Given the description of an element on the screen output the (x, y) to click on. 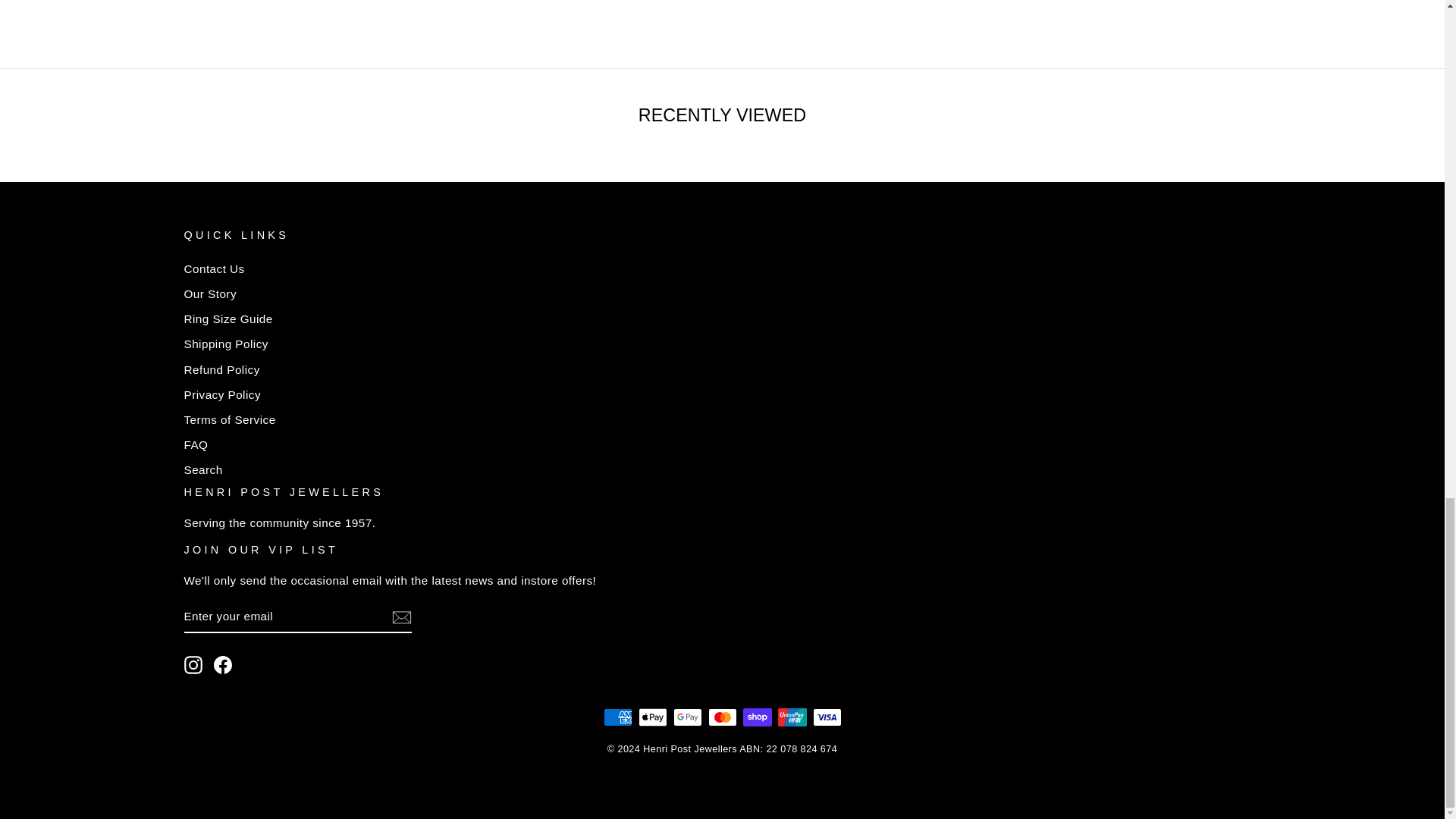
Google Pay (686, 717)
American Express (617, 717)
Shop Pay (756, 717)
Henri Post Jewellers on Instagram (192, 665)
Visa (826, 717)
Mastercard (721, 717)
Henri Post Jewellers on Facebook (222, 665)
Apple Pay (652, 717)
Union Pay (791, 717)
